Given the description of an element on the screen output the (x, y) to click on. 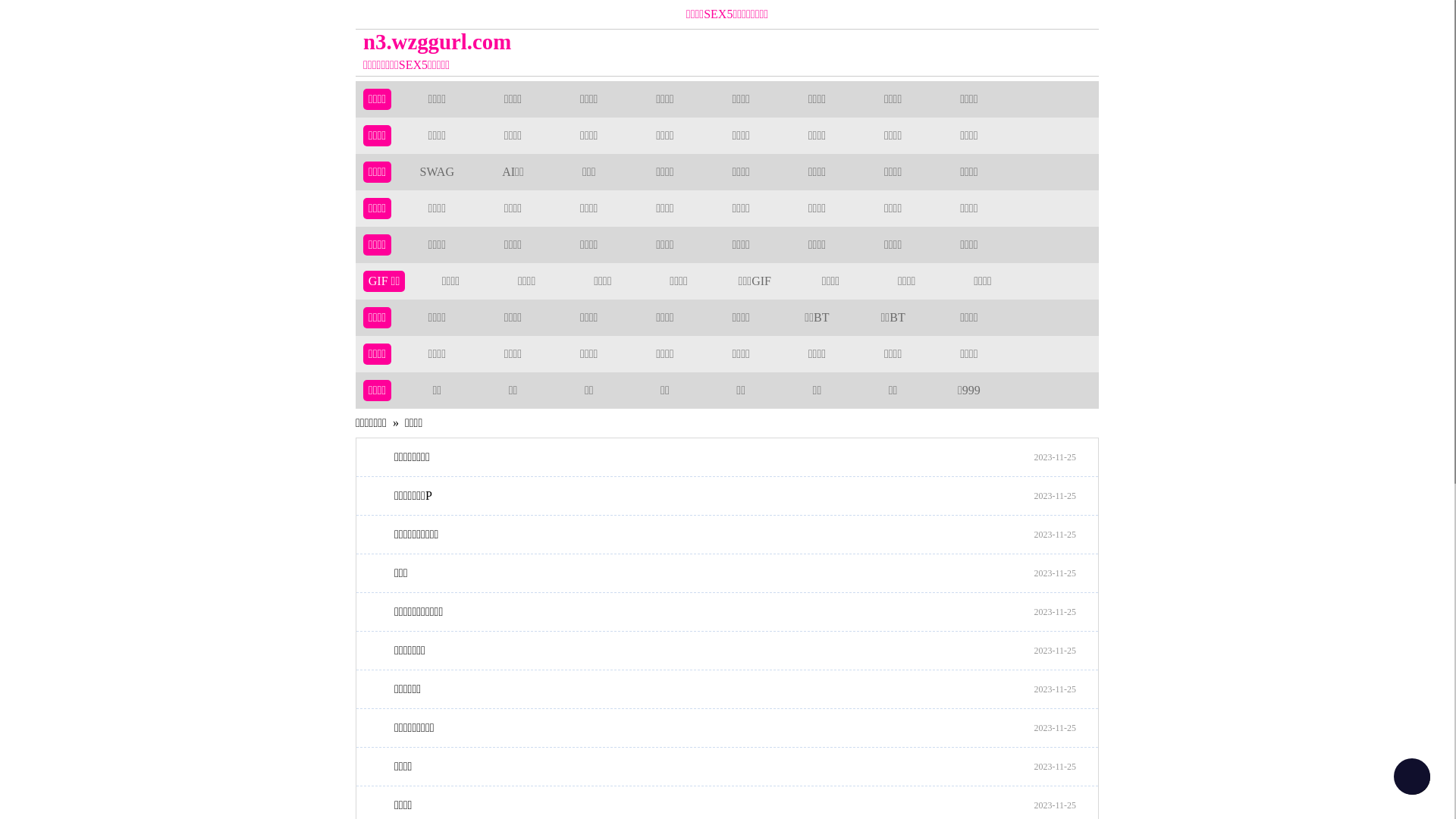
n3.wzggurl.com Element type: text (634, 41)
SWAG Element type: text (437, 171)
